Given the description of an element on the screen output the (x, y) to click on. 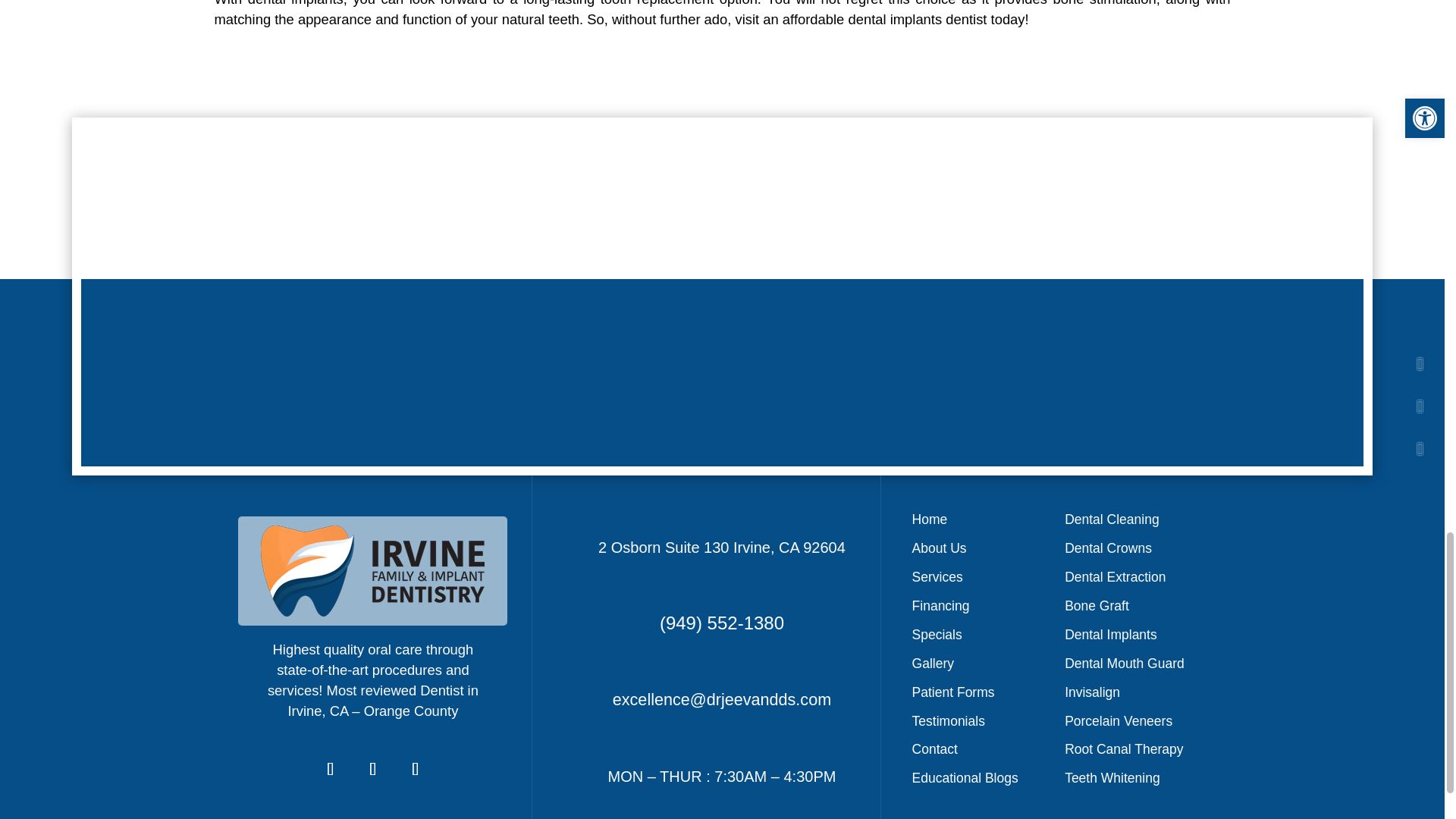
Financing (940, 609)
Follow on X (373, 769)
Follow on Instagram (415, 769)
Follow on Facebook (331, 769)
Specials (937, 638)
Home (929, 522)
Services (937, 580)
About Us (939, 551)
